Given the description of an element on the screen output the (x, y) to click on. 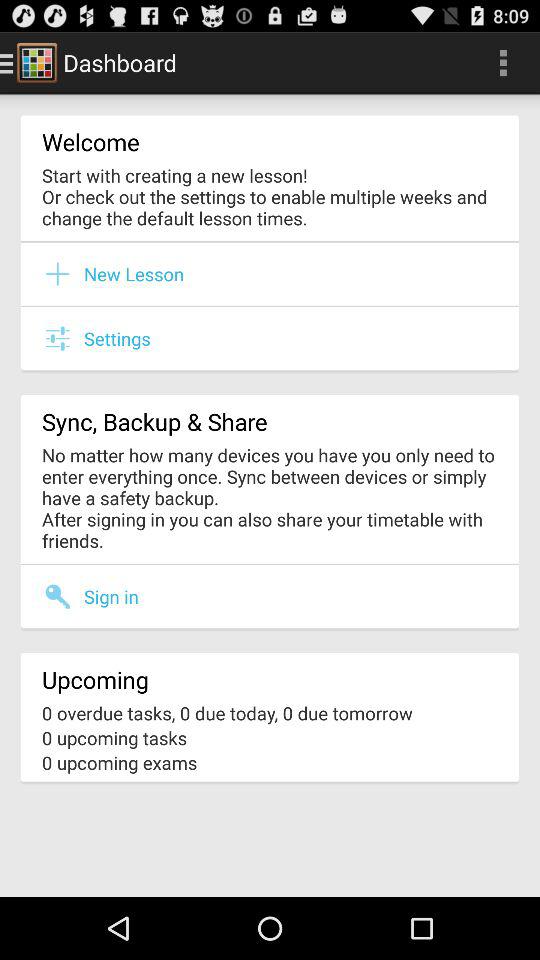
turn off the item to the left of sign in icon (63, 596)
